Given the description of an element on the screen output the (x, y) to click on. 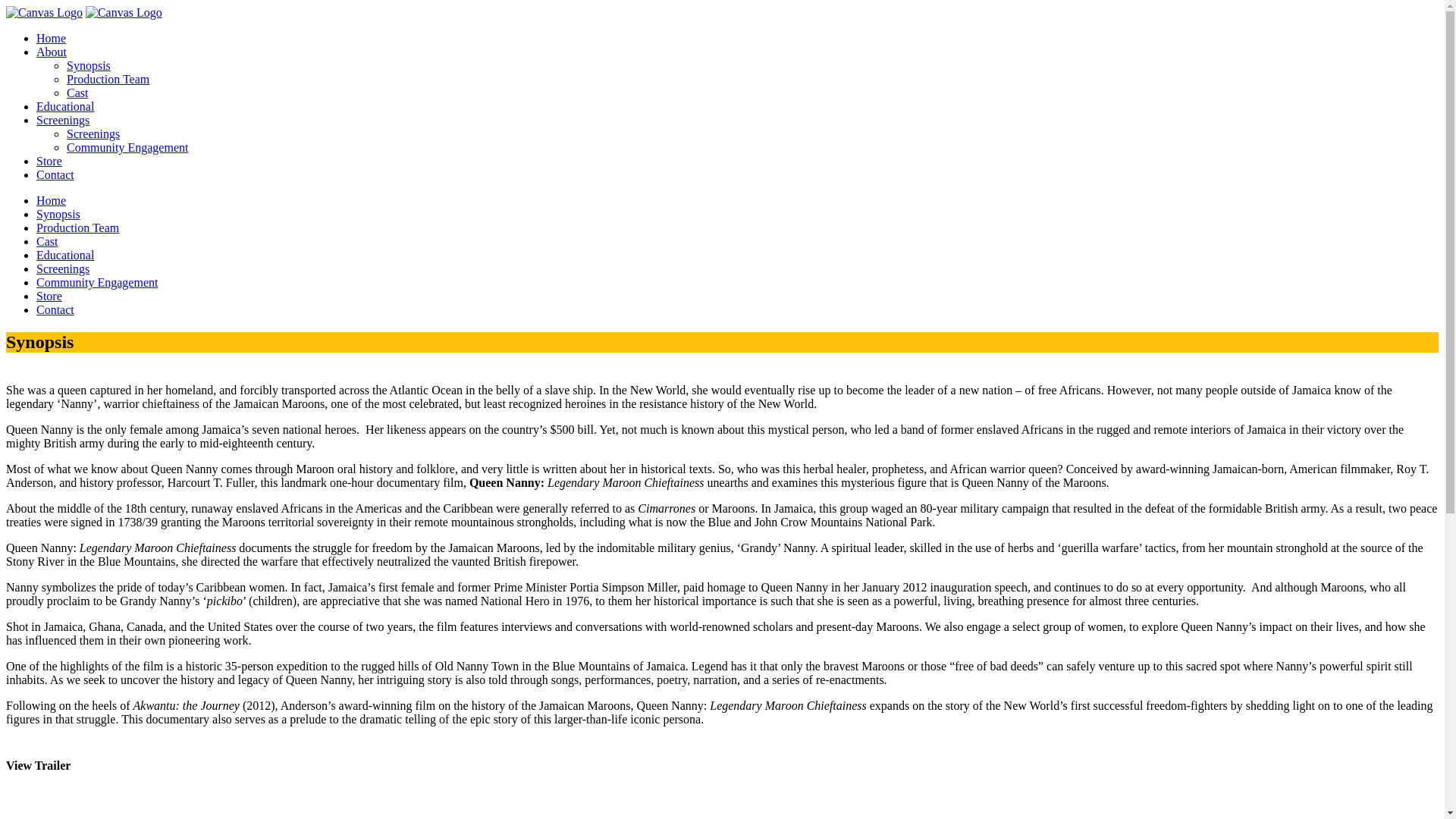
Contact (55, 174)
Store (49, 160)
Cast (47, 241)
Contact (55, 309)
Store (49, 295)
Educational (65, 106)
Production Team (107, 78)
Screenings (92, 133)
Cast (76, 92)
Synopsis (88, 65)
